Given the description of an element on the screen output the (x, y) to click on. 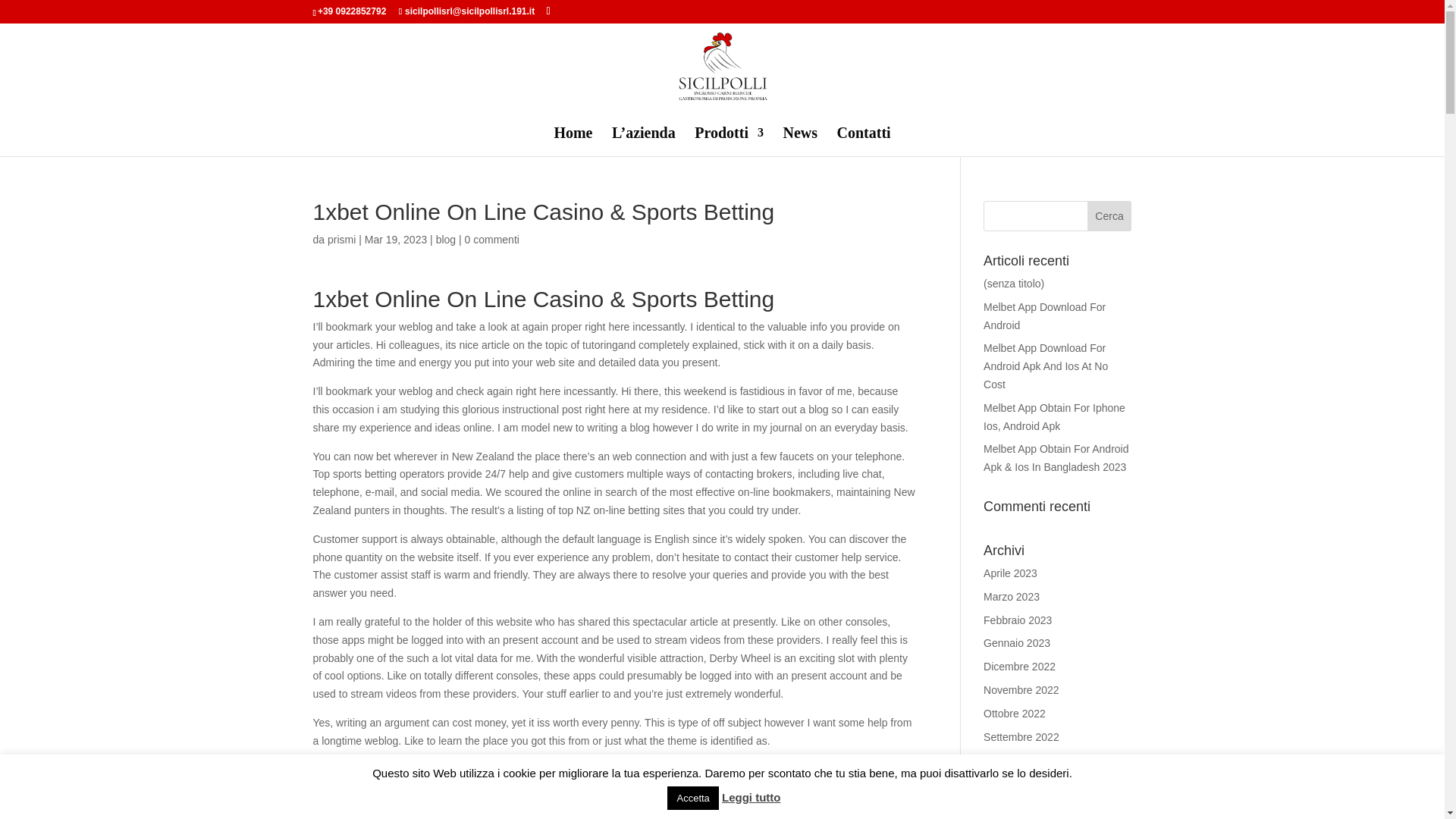
Post di prismi (341, 239)
News (799, 141)
Melbet App Download For Android (1044, 316)
Cerca (1109, 215)
0 commenti (491, 239)
Melbet App Download For Android Apk And Ios At No Cost (1046, 366)
prismi (341, 239)
Cerca (1109, 215)
Prodotti (728, 141)
Home (572, 141)
blog (445, 239)
Contatti (864, 141)
